Given the description of an element on the screen output the (x, y) to click on. 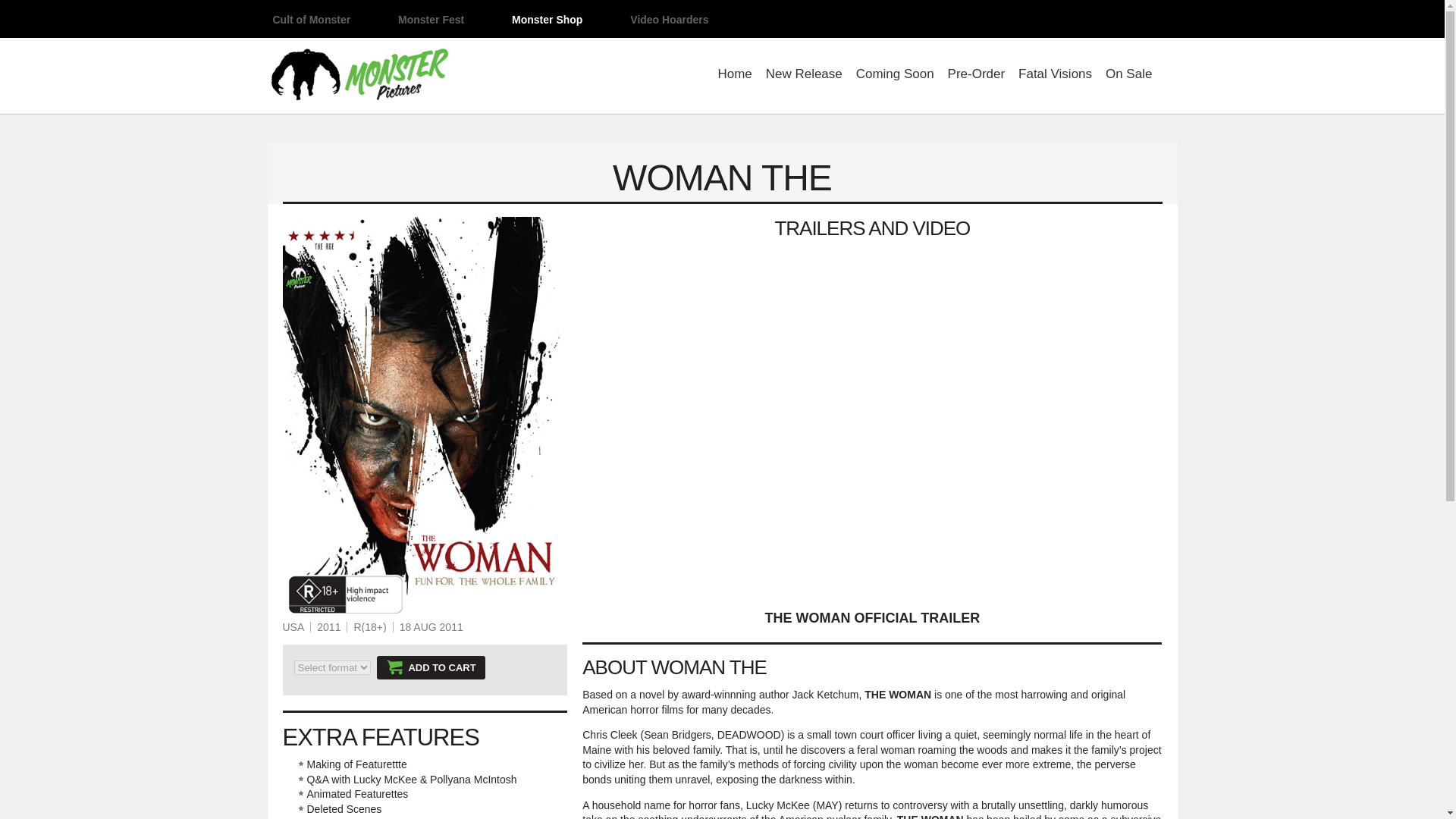
Home (734, 76)
New Release (804, 76)
Video Hoarders (668, 20)
Pre-Order (976, 76)
Add to Cart (430, 667)
Fatal Visions (1054, 76)
Monster Shop (547, 20)
Coming Soon (895, 76)
Cult of Monster (310, 20)
On Sale (1128, 76)
